Given the description of an element on the screen output the (x, y) to click on. 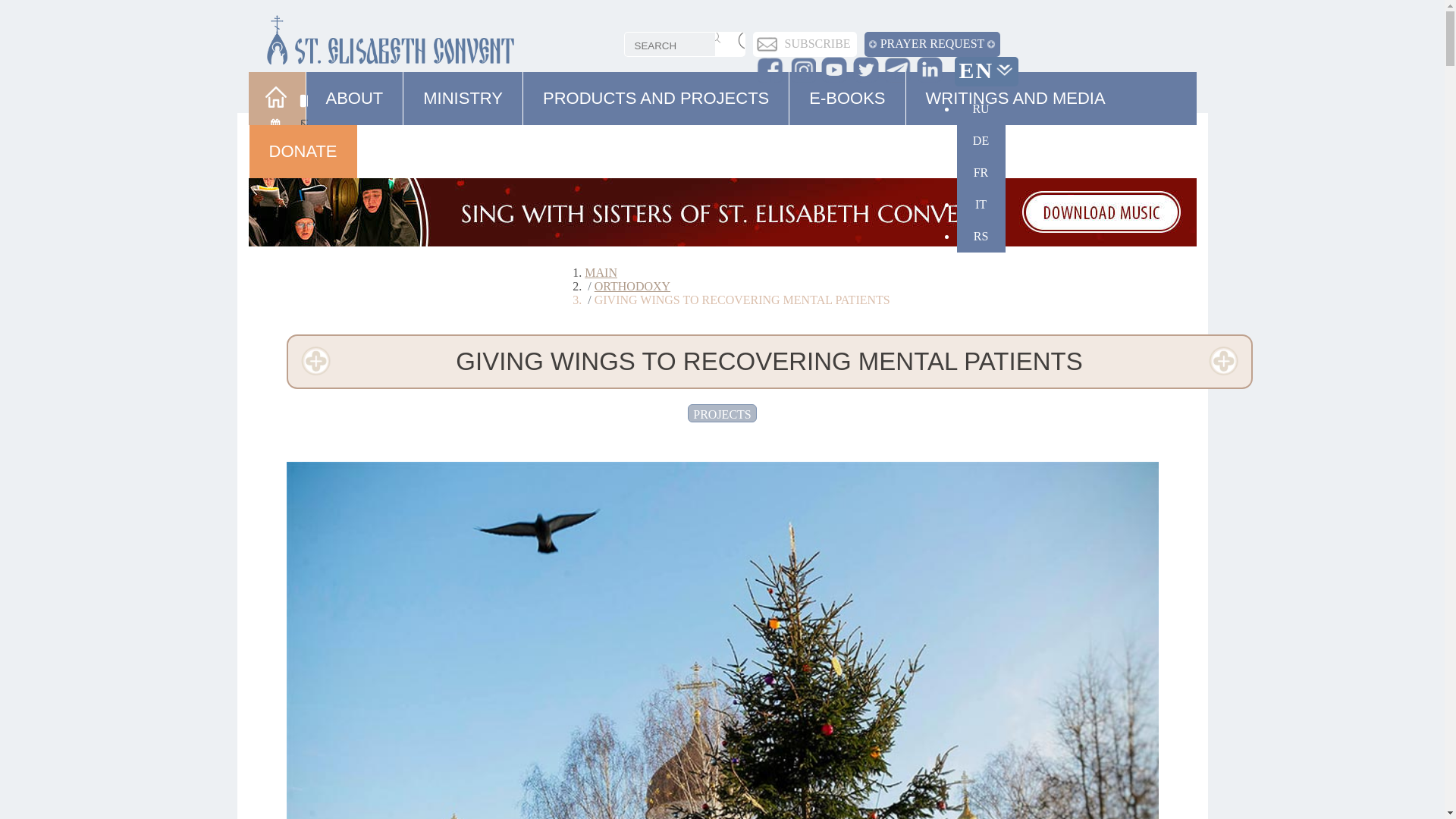
RU (981, 109)
SUBSCRIBE (817, 43)
FR (981, 173)
IT (981, 204)
ABOUT (354, 107)
DE (981, 141)
RS (981, 236)
PRODUCTS AND PROJECTS (655, 107)
Home (279, 106)
Main (601, 272)
EN (986, 69)
MINISTRY (462, 107)
Orthodoxy (631, 286)
PRAYER REQUEST (932, 43)
